Given the description of an element on the screen output the (x, y) to click on. 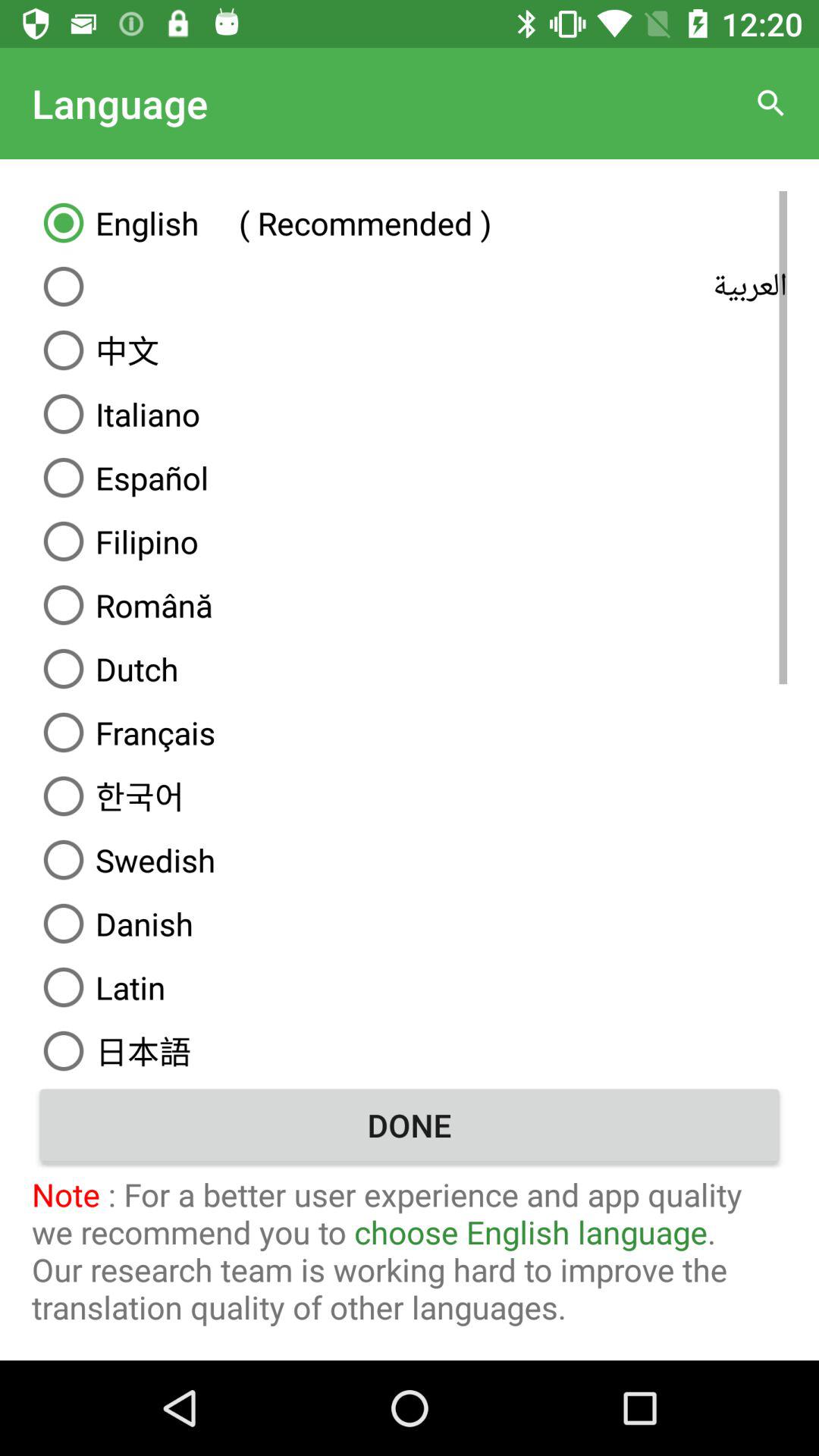
turn on the item above the note for a icon (409, 1124)
